Given the description of an element on the screen output the (x, y) to click on. 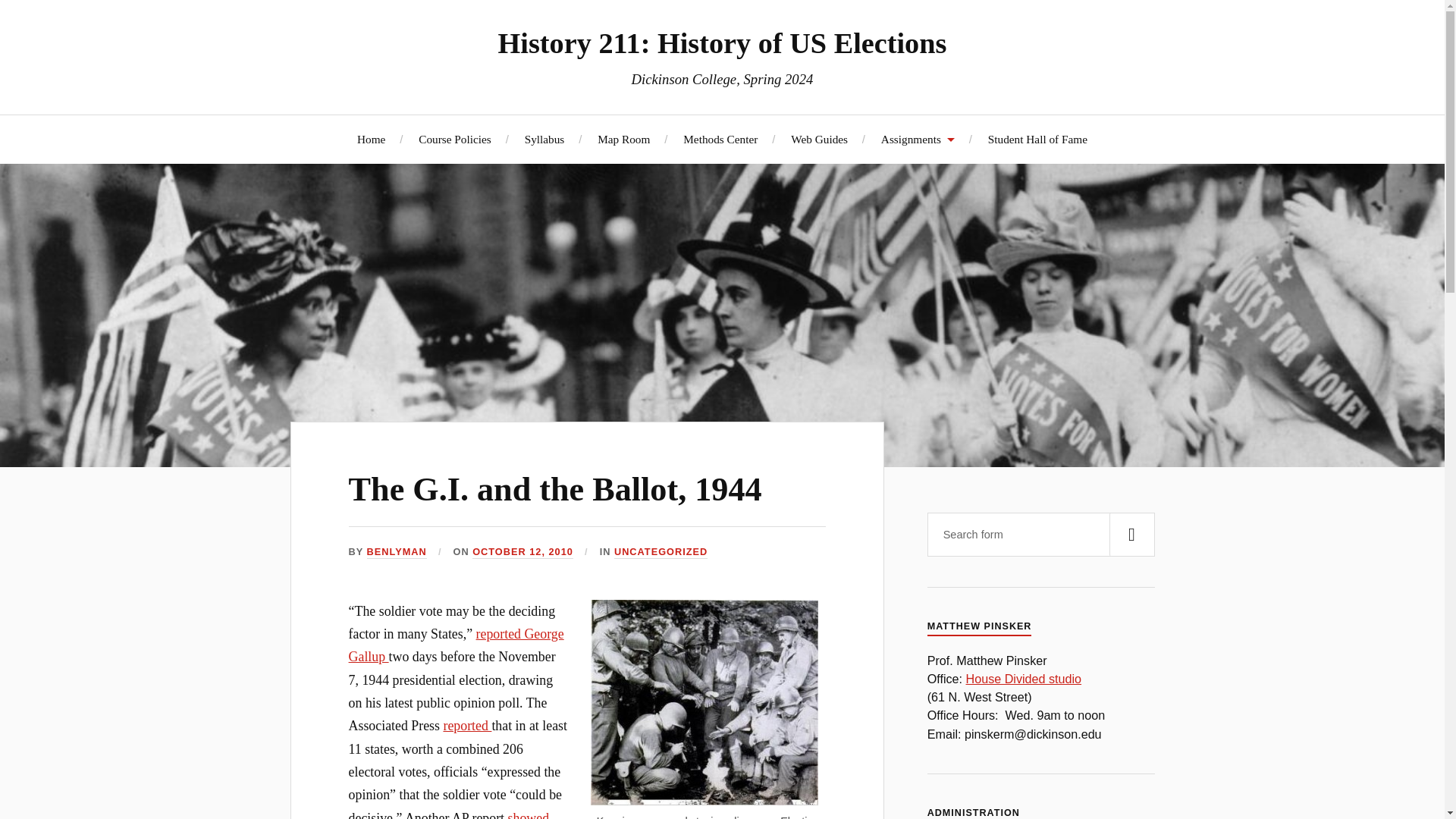
History 211: History of US Elections (722, 42)
The G.I. and the Ballot, 1944 (555, 488)
Methods Center (719, 138)
BENLYMAN (396, 552)
Student Hall of Fame (1037, 138)
Map Room (622, 138)
Posts by benlyman (396, 552)
Web Guides (818, 138)
reported (467, 725)
Assignments (917, 138)
showed (529, 814)
OCTOBER 12, 2010 (522, 552)
Course Policies (455, 138)
reported George Gallup (456, 645)
UNCATEGORIZED (660, 552)
